Given the description of an element on the screen output the (x, y) to click on. 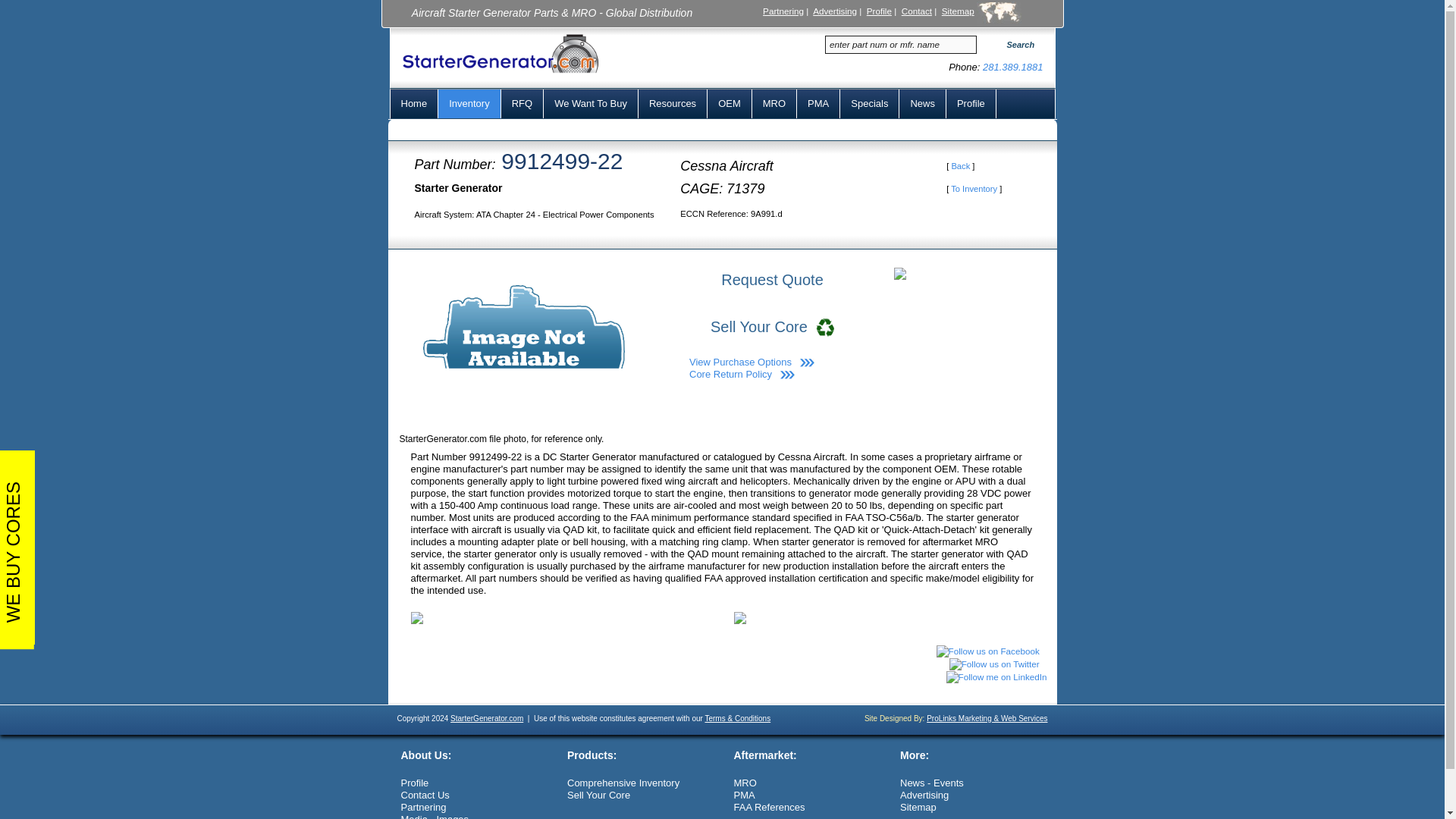
Resources (673, 103)
Contact (916, 10)
Sitemap (958, 10)
Search (1014, 45)
OEM (729, 103)
Home (414, 103)
We Want To Buy (591, 103)
Core Return Policy (729, 374)
StarterGenerator.com (485, 718)
Search (1014, 45)
RFQ (521, 103)
To Inventory (973, 188)
enter part num or mfr. name (900, 45)
MRO (774, 103)
Specials (869, 103)
